Given the description of an element on the screen output the (x, y) to click on. 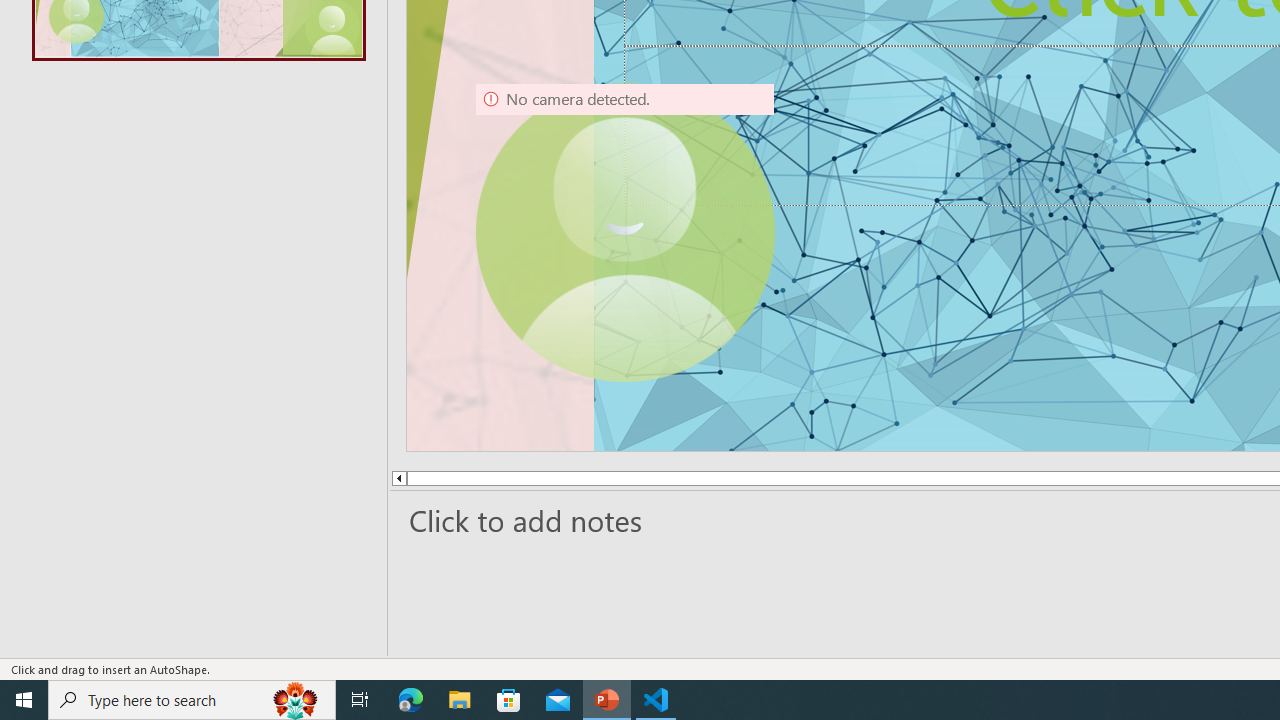
Camera 9, No camera detected. (624, 232)
